Given the description of an element on the screen output the (x, y) to click on. 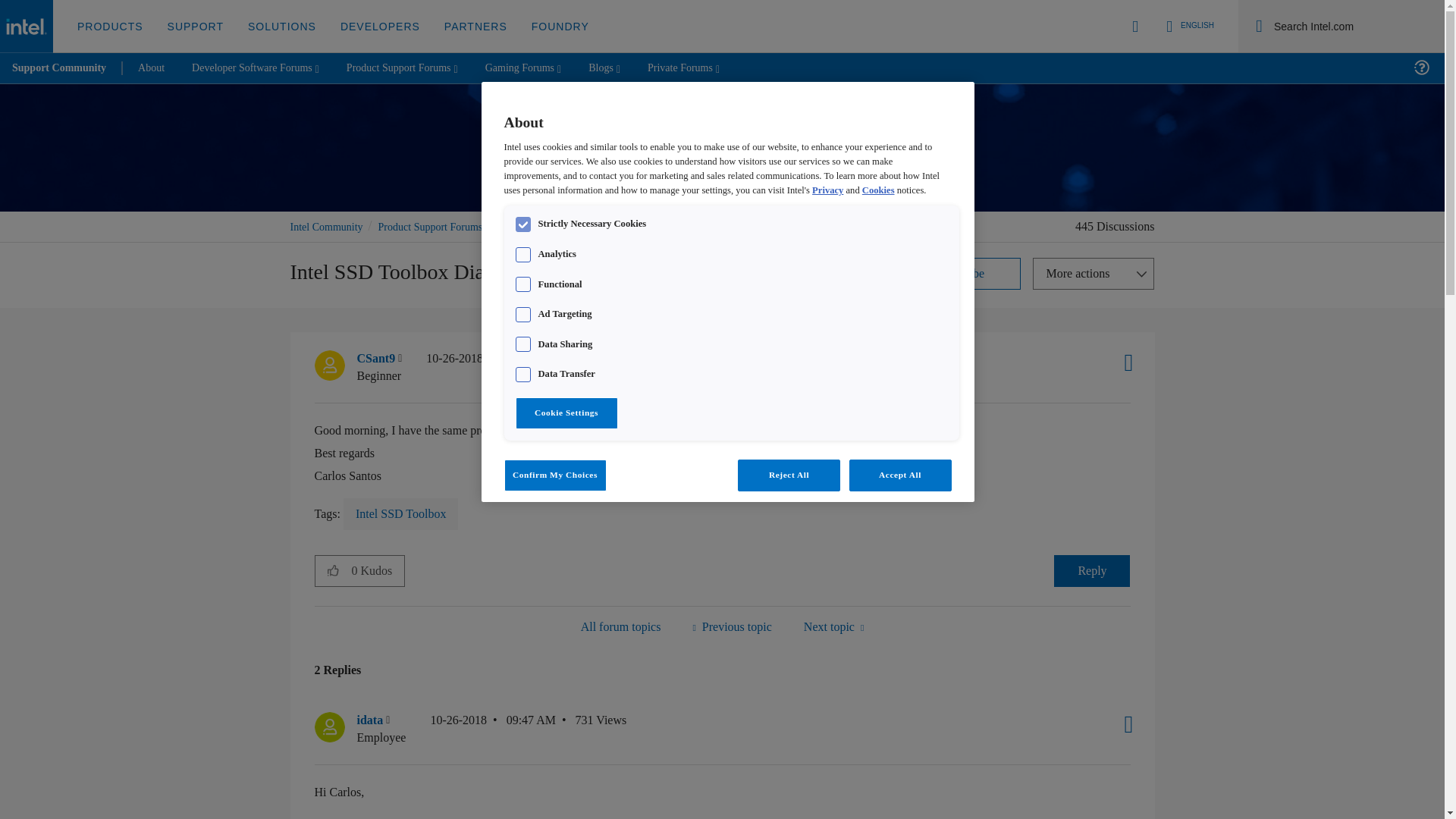
Sign In (1135, 26)
Posted on (488, 367)
CSant9 (328, 365)
Show option menu (1123, 724)
Show option menu (1123, 362)
PRODUCTS (110, 26)
Show option menu (1093, 273)
The total number of kudos this post has received. (377, 571)
Compatibility of Intel Optane SSD DC P4800X SERIES (731, 626)
Posted on (492, 728)
Click here to give kudos to this post. (332, 570)
idata (328, 726)
